Given the description of an element on the screen output the (x, y) to click on. 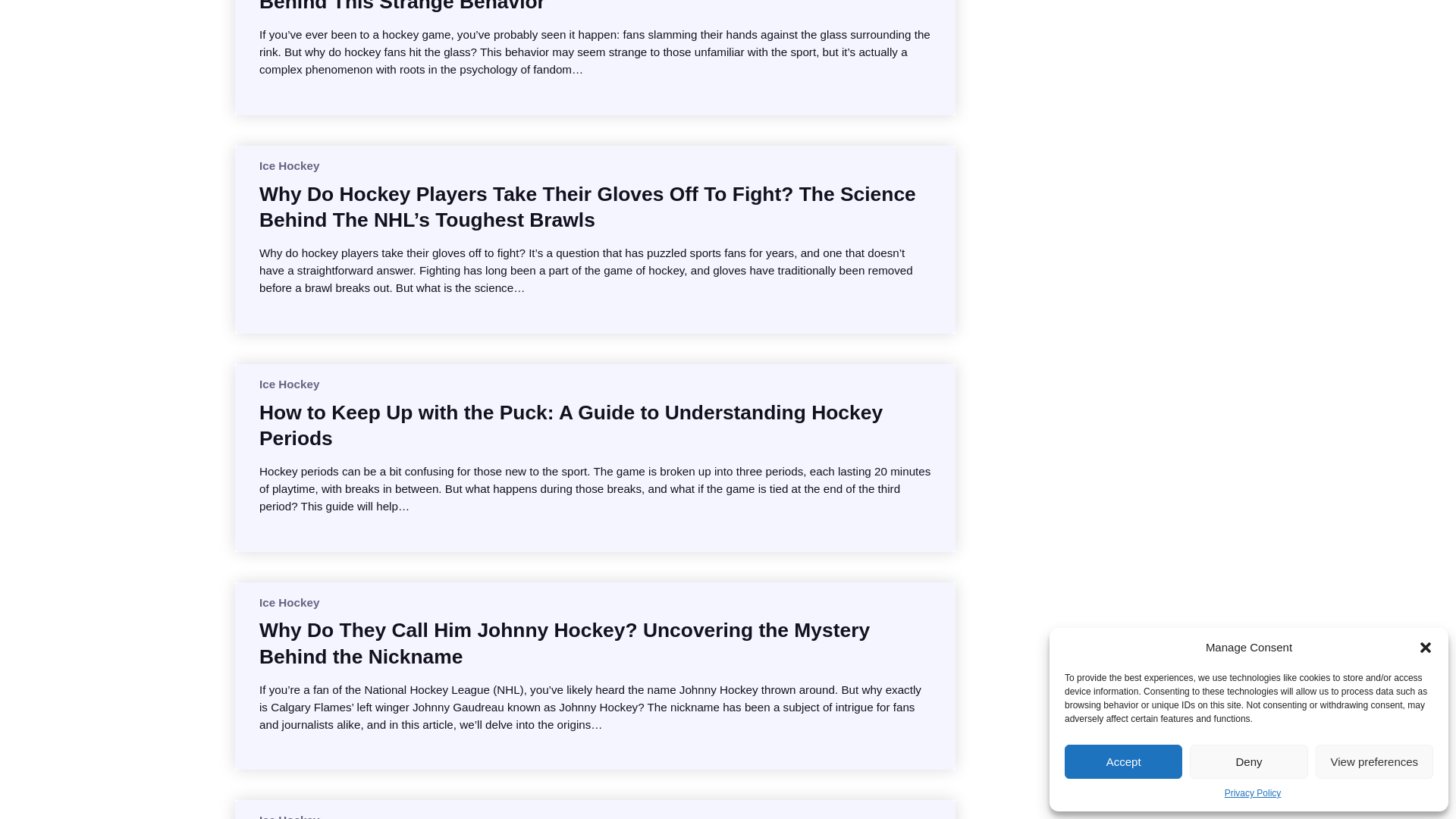
Ice Hockey (288, 383)
Ice Hockey (288, 164)
Ice Hockey (288, 602)
Ice Hockey (288, 816)
